Given the description of an element on the screen output the (x, y) to click on. 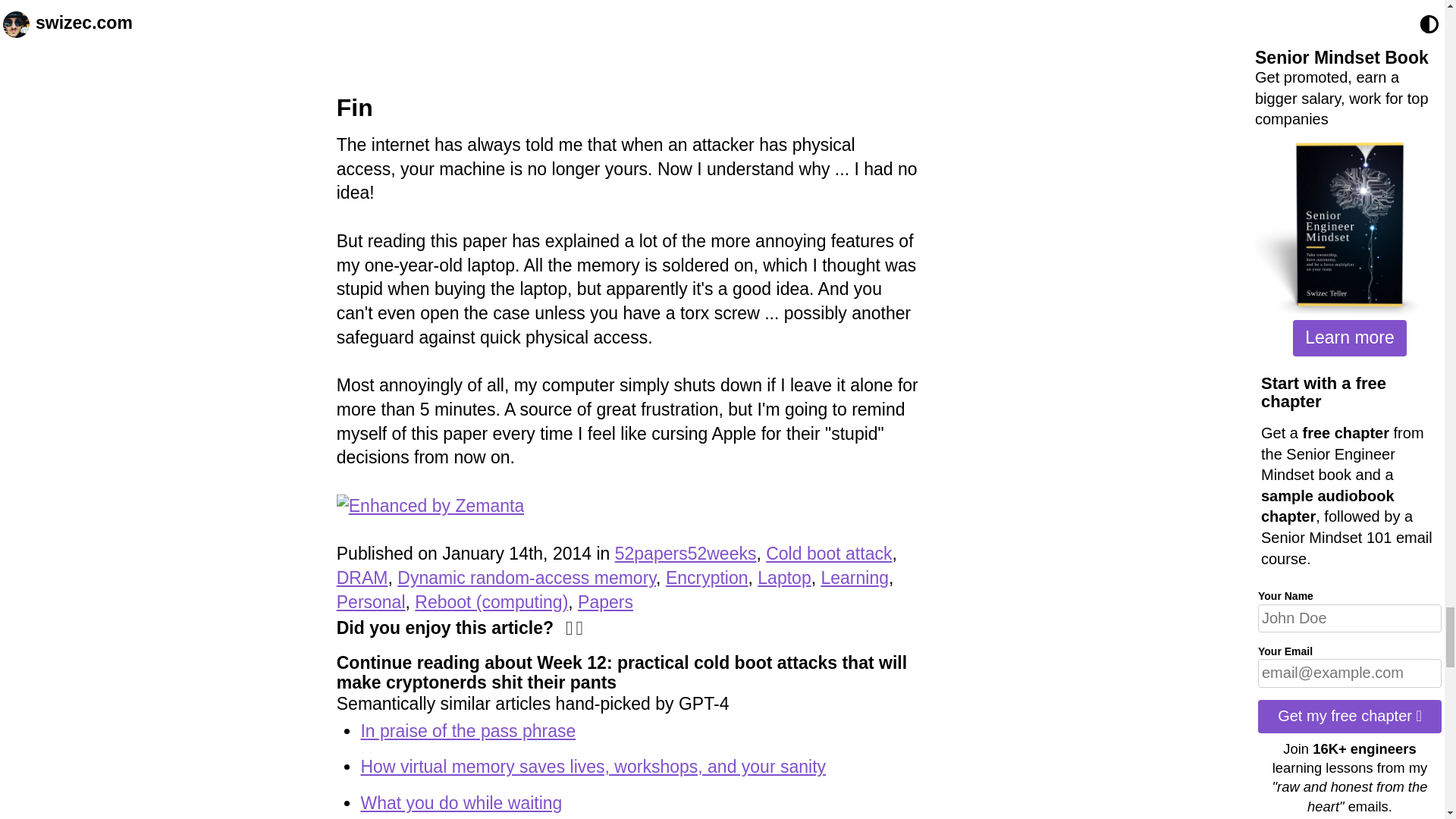
Cold boot attack (828, 553)
Enhanced by Zemanta (430, 505)
Dynamic random-access memory (526, 578)
52papers52weeks (685, 553)
Laptop (783, 578)
Fin (354, 107)
Encryption (706, 578)
DRAM (362, 578)
Learning (854, 578)
